Given the description of an element on the screen output the (x, y) to click on. 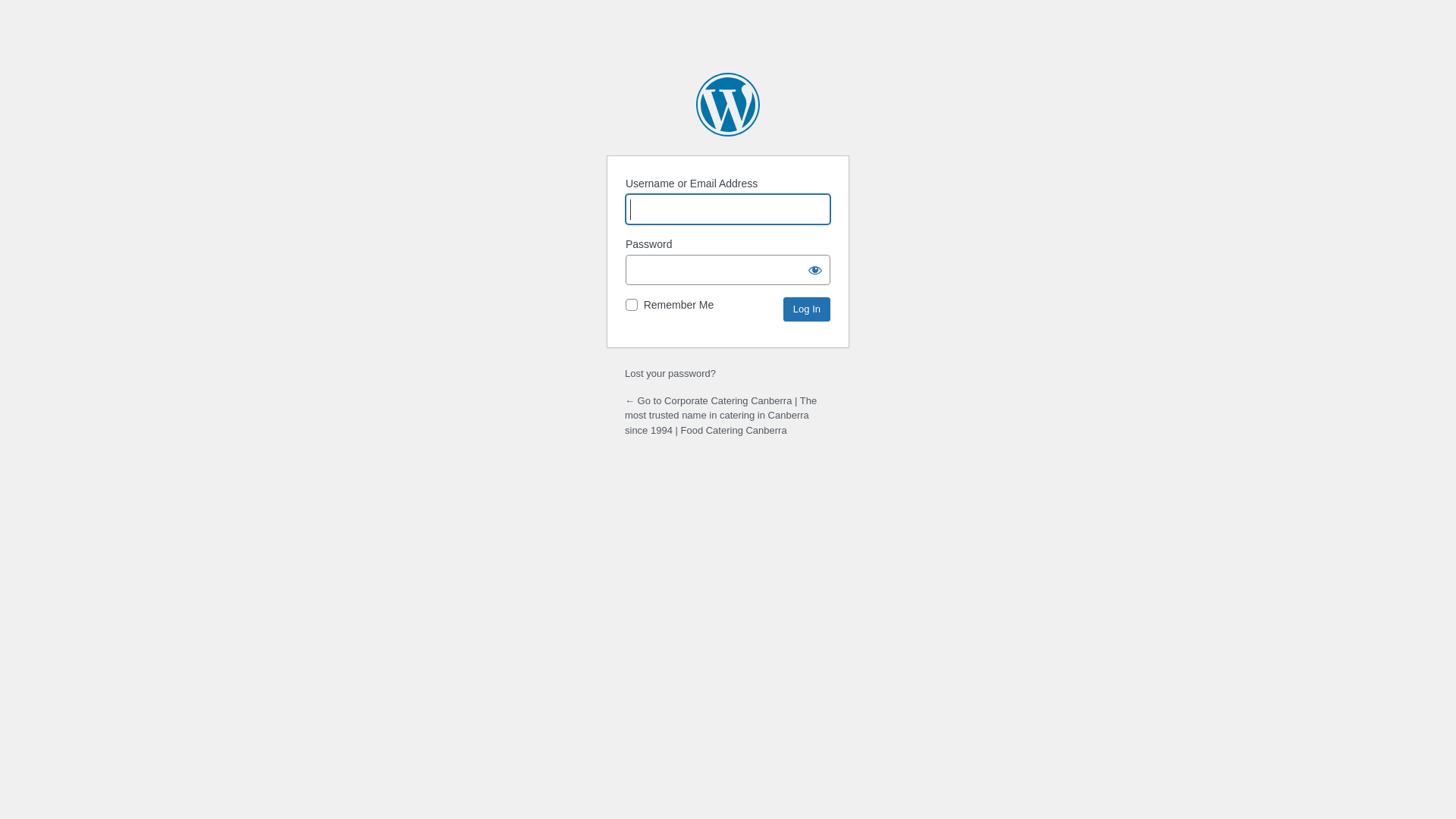
Log In Element type: text (806, 309)
Lost your password? Element type: text (669, 373)
Powered by WordPress Element type: text (727, 104)
